Given the description of an element on the screen output the (x, y) to click on. 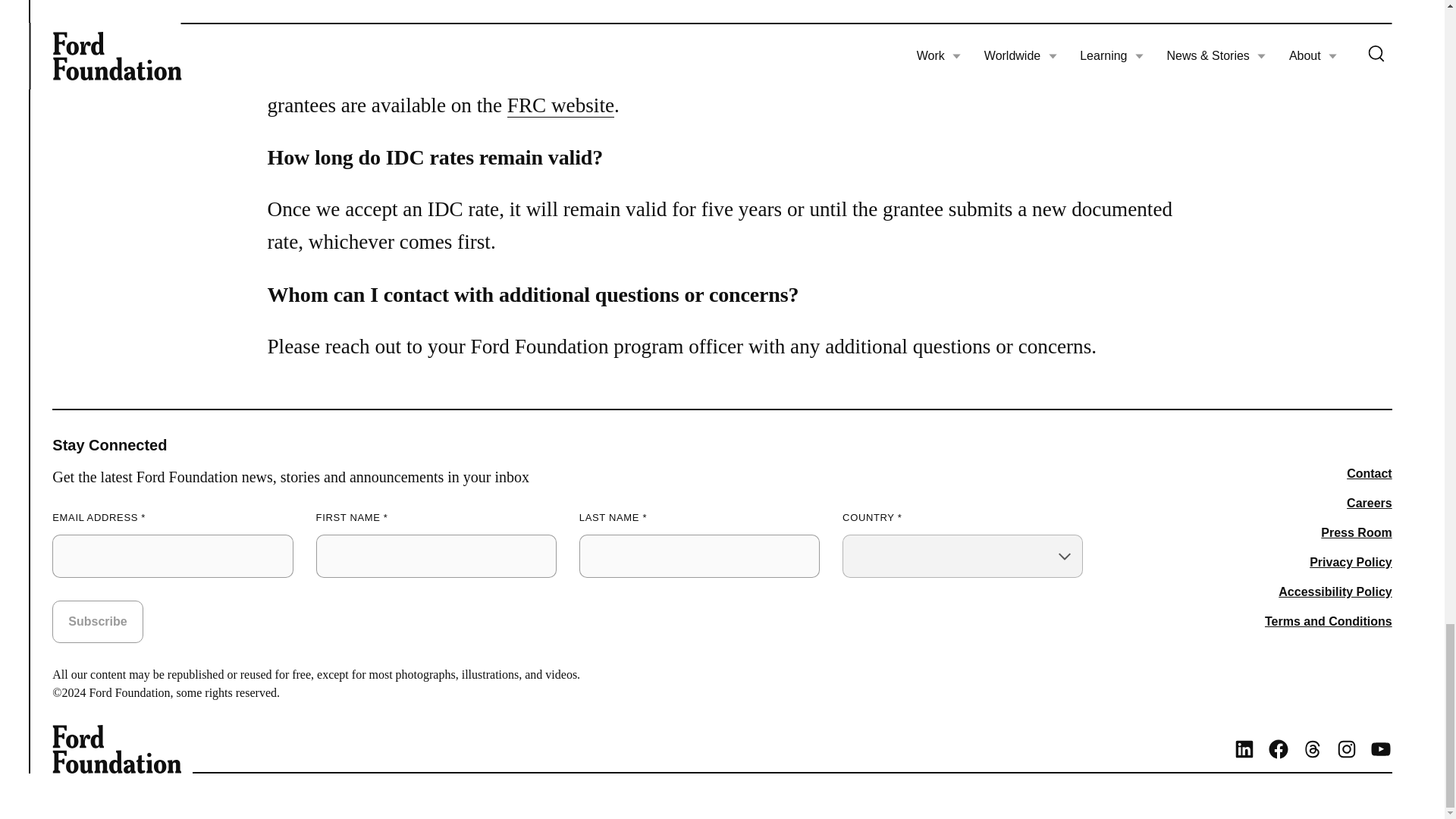
Four Key Recommendations to Increase Indirect Cost Coverage (560, 105)
Subscribe (97, 621)
BDO Institute for Nonprofit ExcellenceSM (914, 39)
